Given the description of an element on the screen output the (x, y) to click on. 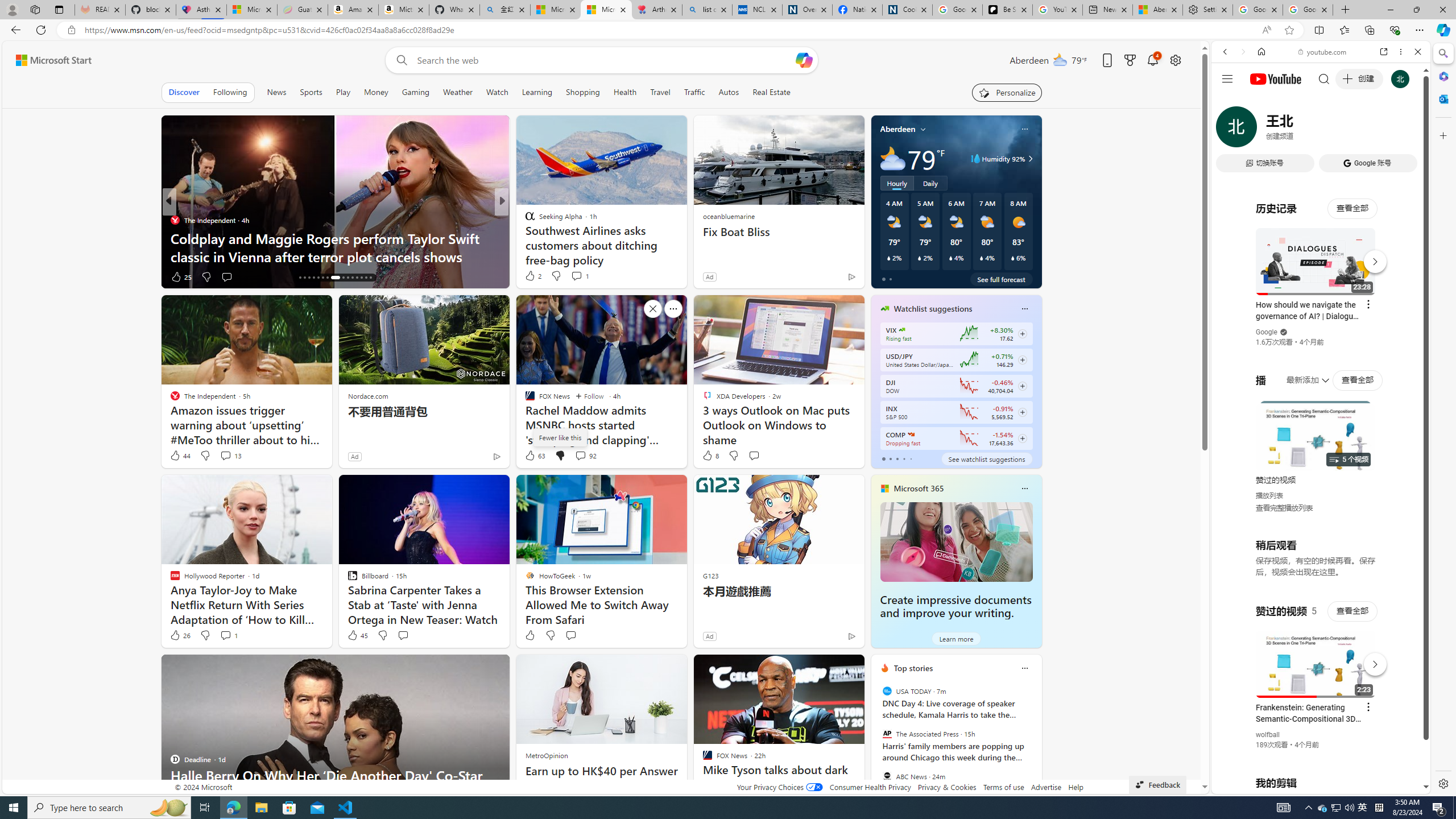
CNN (524, 219)
View comments 7 Comment (580, 276)
Terms of use (1003, 786)
Search Filter, IMAGES (1262, 129)
310 Like (532, 276)
Google (1320, 281)
Play (342, 92)
